Given the description of an element on the screen output the (x, y) to click on. 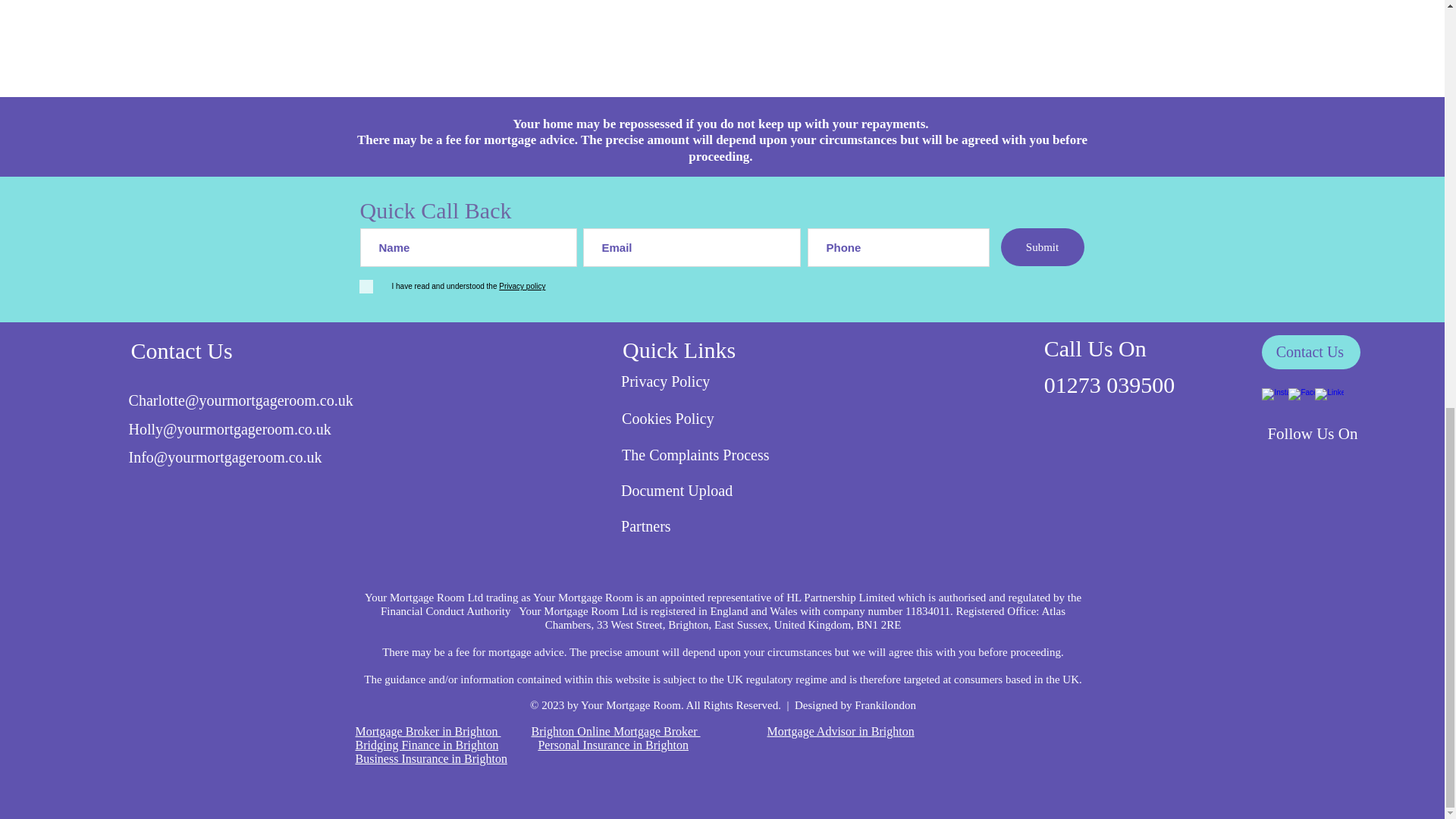
Privacy Policy (700, 381)
Cookies Policy (702, 418)
Partners (701, 525)
The Complaints Process (703, 454)
Document Upload (1108, 363)
